Given the description of an element on the screen output the (x, y) to click on. 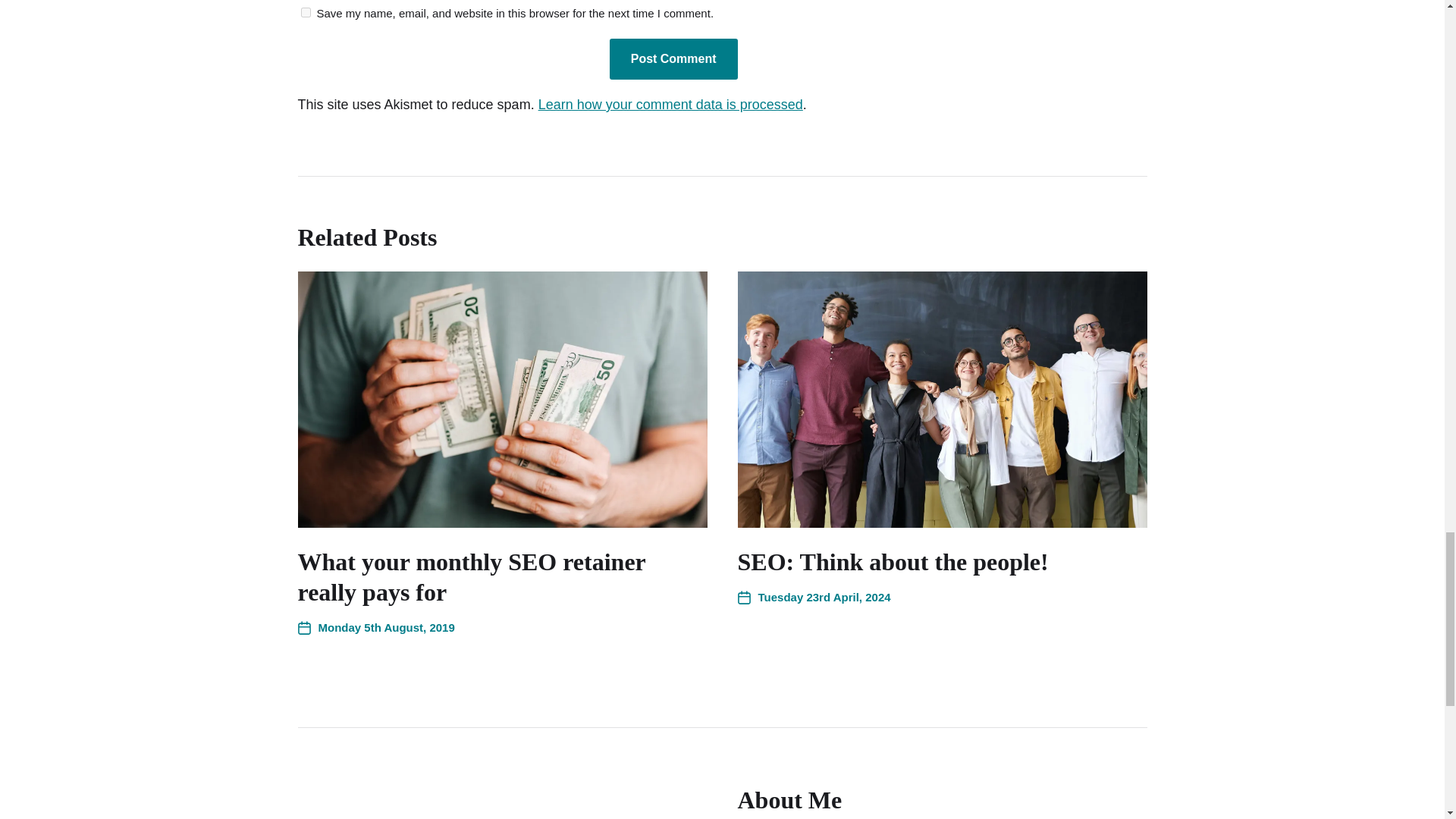
Monday 5th August, 2019 (375, 628)
yes (304, 12)
Post Comment (674, 58)
What your monthly SEO retainer really pays for (471, 576)
Post Comment (674, 58)
Learn how your comment data is processed (670, 104)
Tuesday 23rd April, 2024 (812, 597)
SEO: Think about the people! (892, 561)
